Given the description of an element on the screen output the (x, y) to click on. 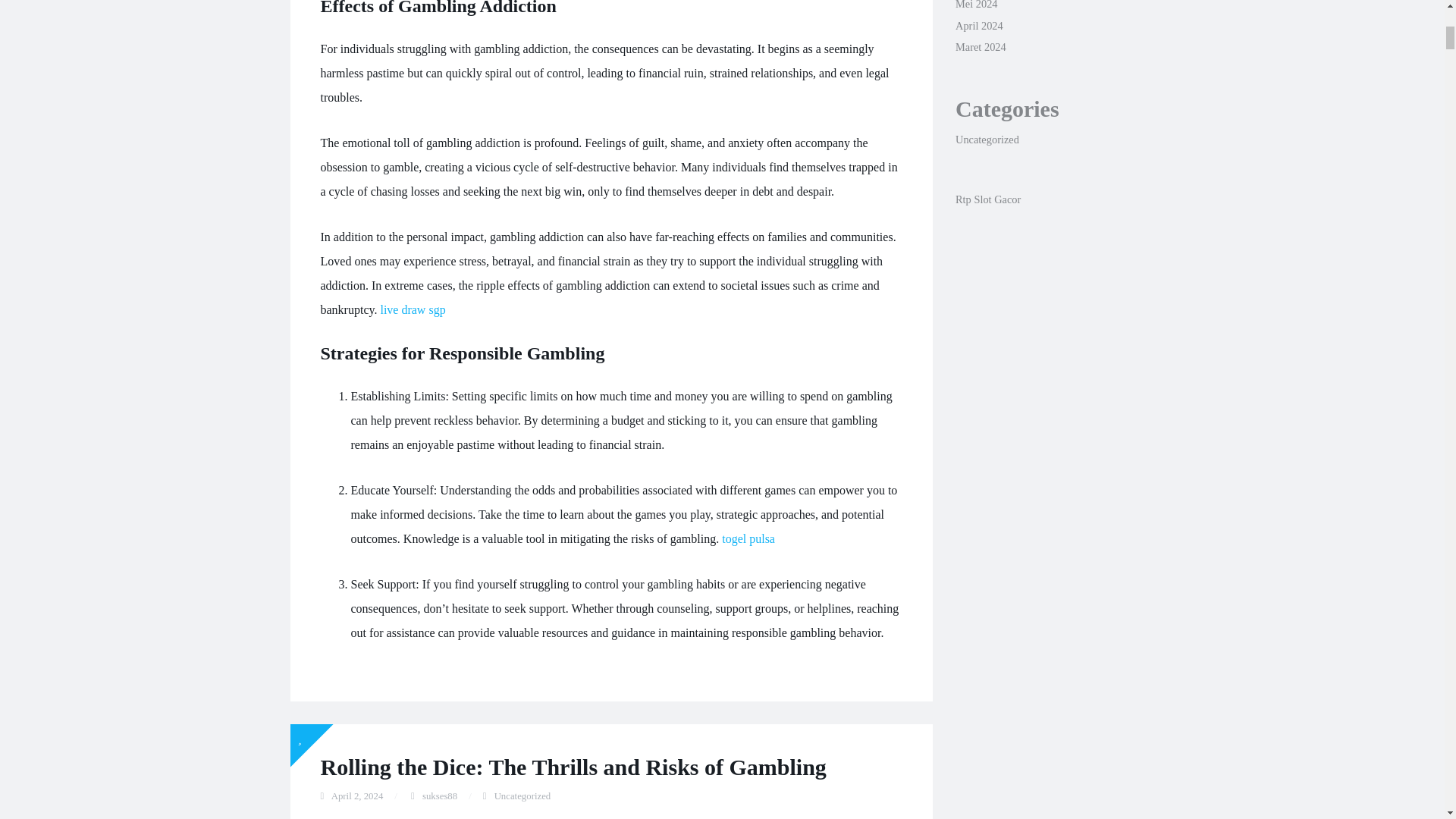
April 2, 2024 (357, 796)
Uncategorized (523, 796)
togel pulsa (748, 538)
sukses88 (439, 796)
Rolling the Dice: The Thrills and Risks of Gambling (572, 766)
live draw sgp (412, 309)
